Given the description of an element on the screen output the (x, y) to click on. 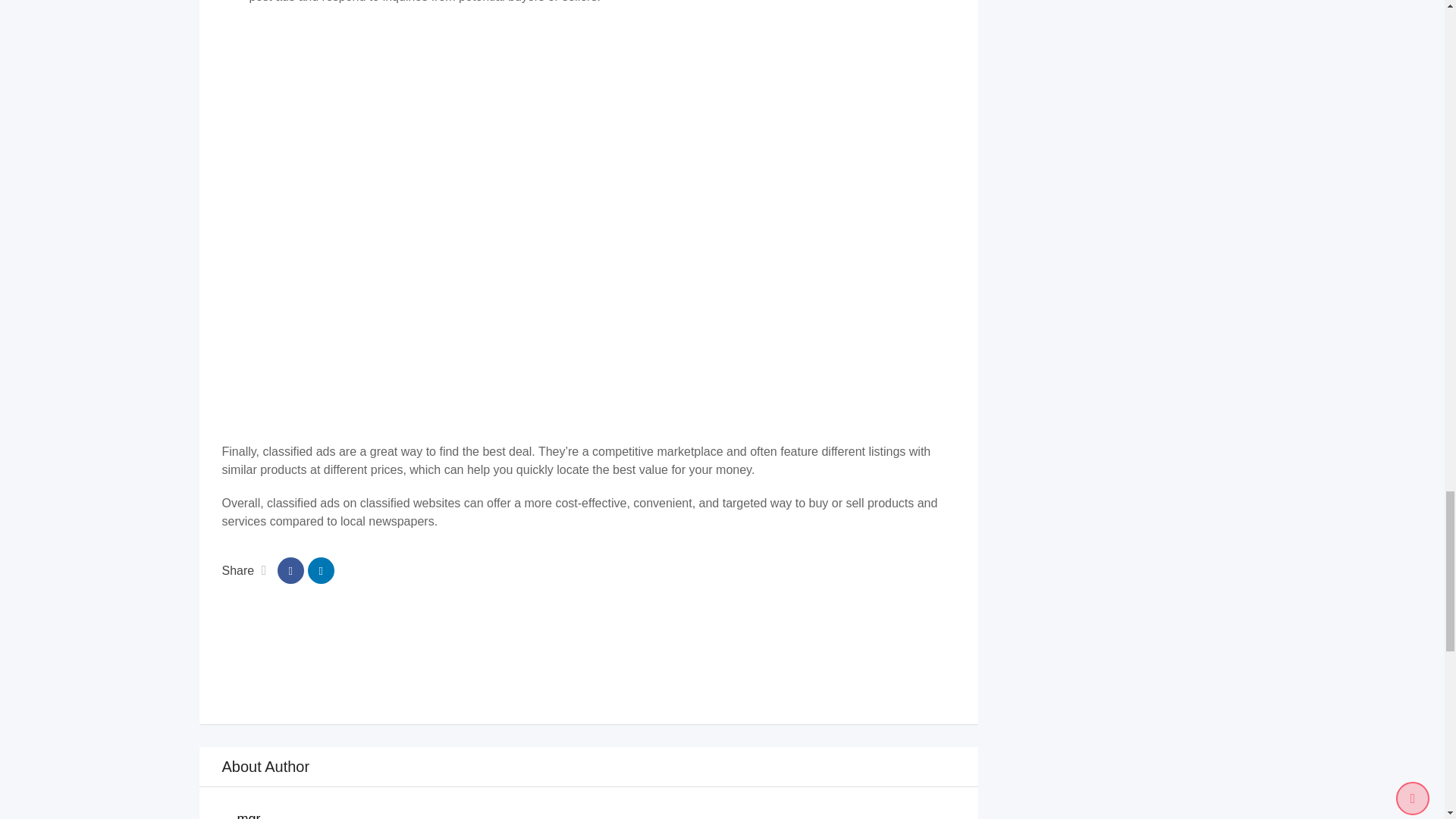
Posts by mgr (247, 815)
